Given the description of an element on the screen output the (x, y) to click on. 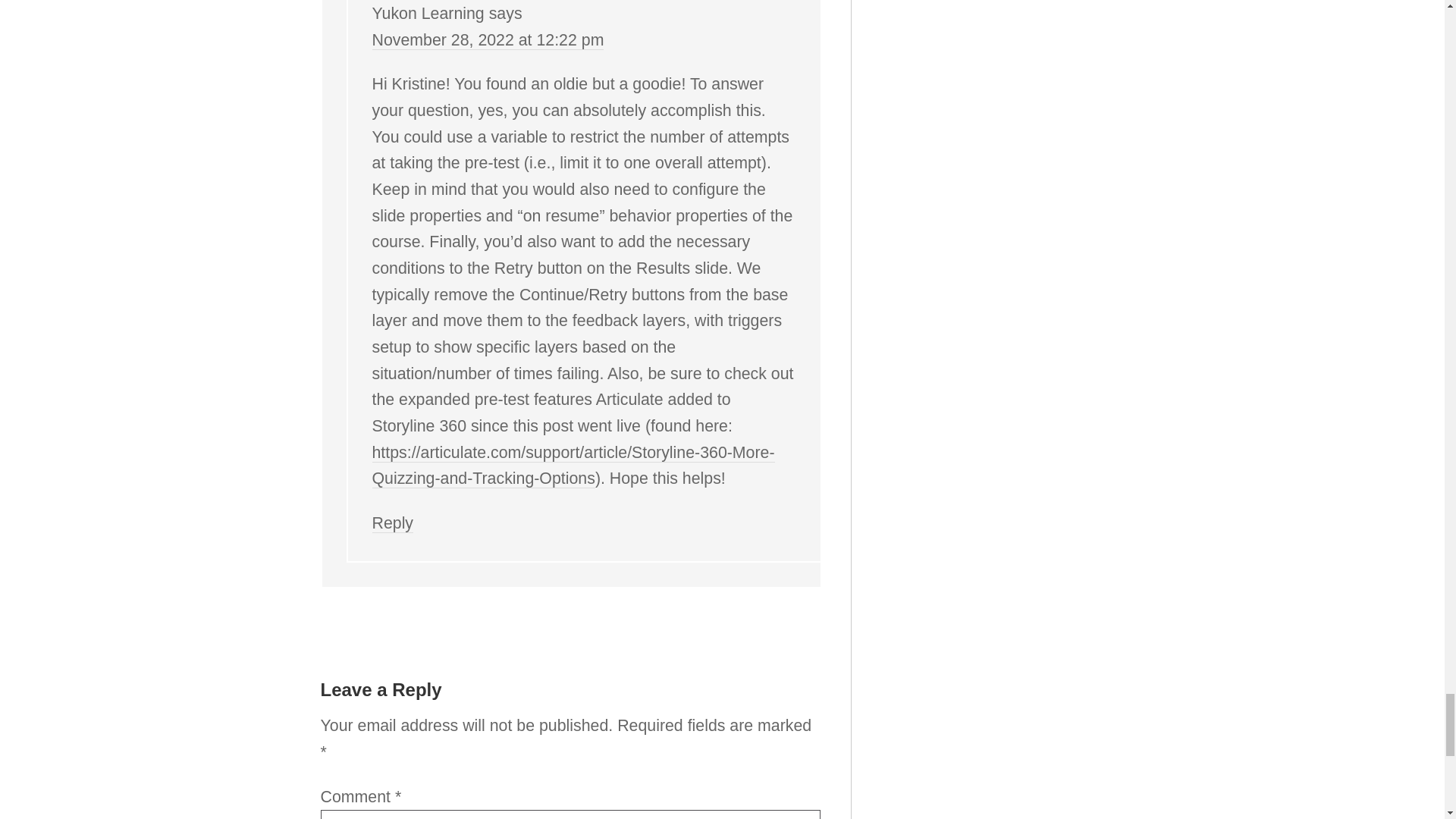
Reply (392, 523)
November 28, 2022 at 12:22 pm (487, 40)
